Given the description of an element on the screen output the (x, y) to click on. 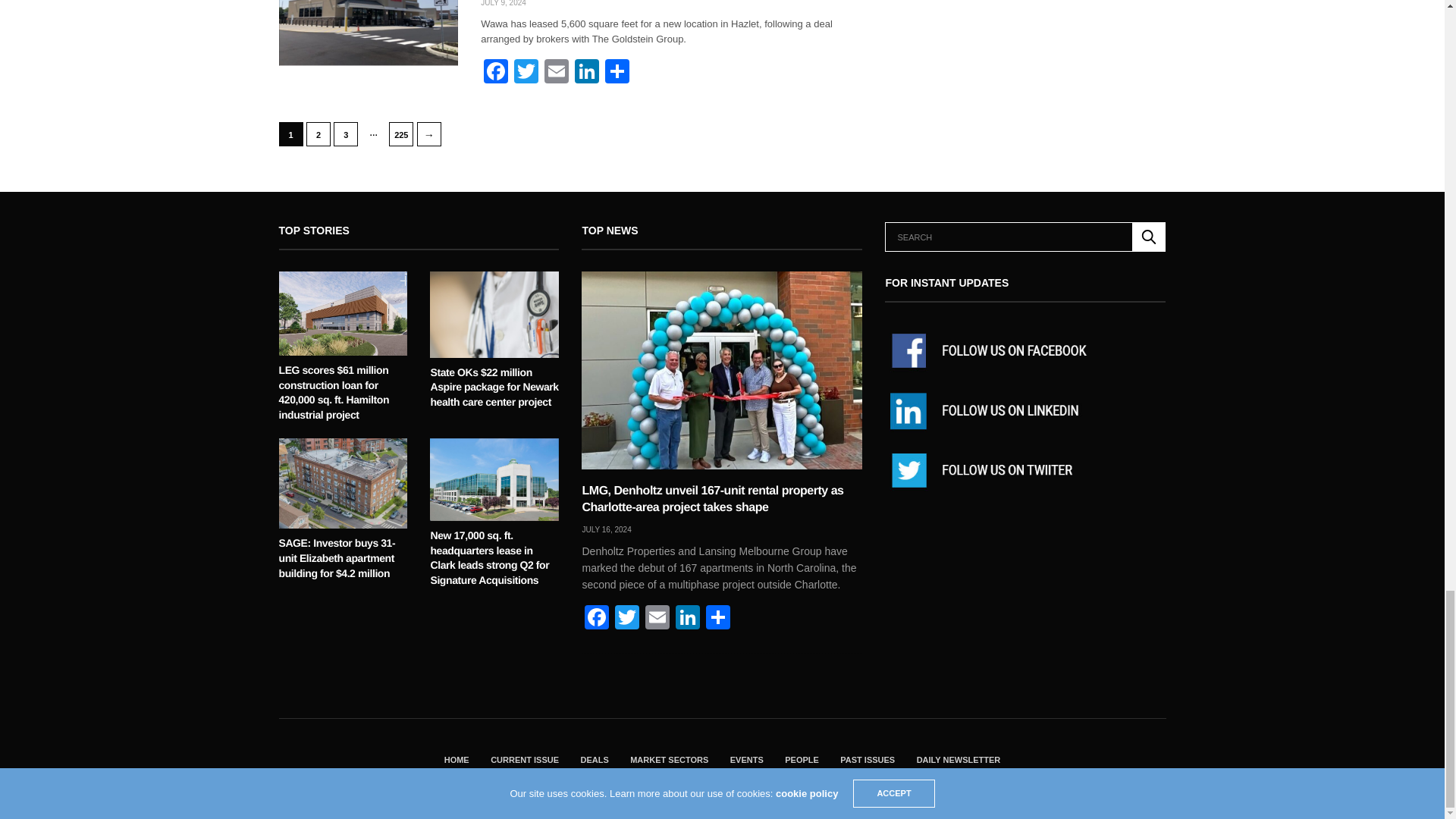
Search (1149, 236)
